Given the description of an element on the screen output the (x, y) to click on. 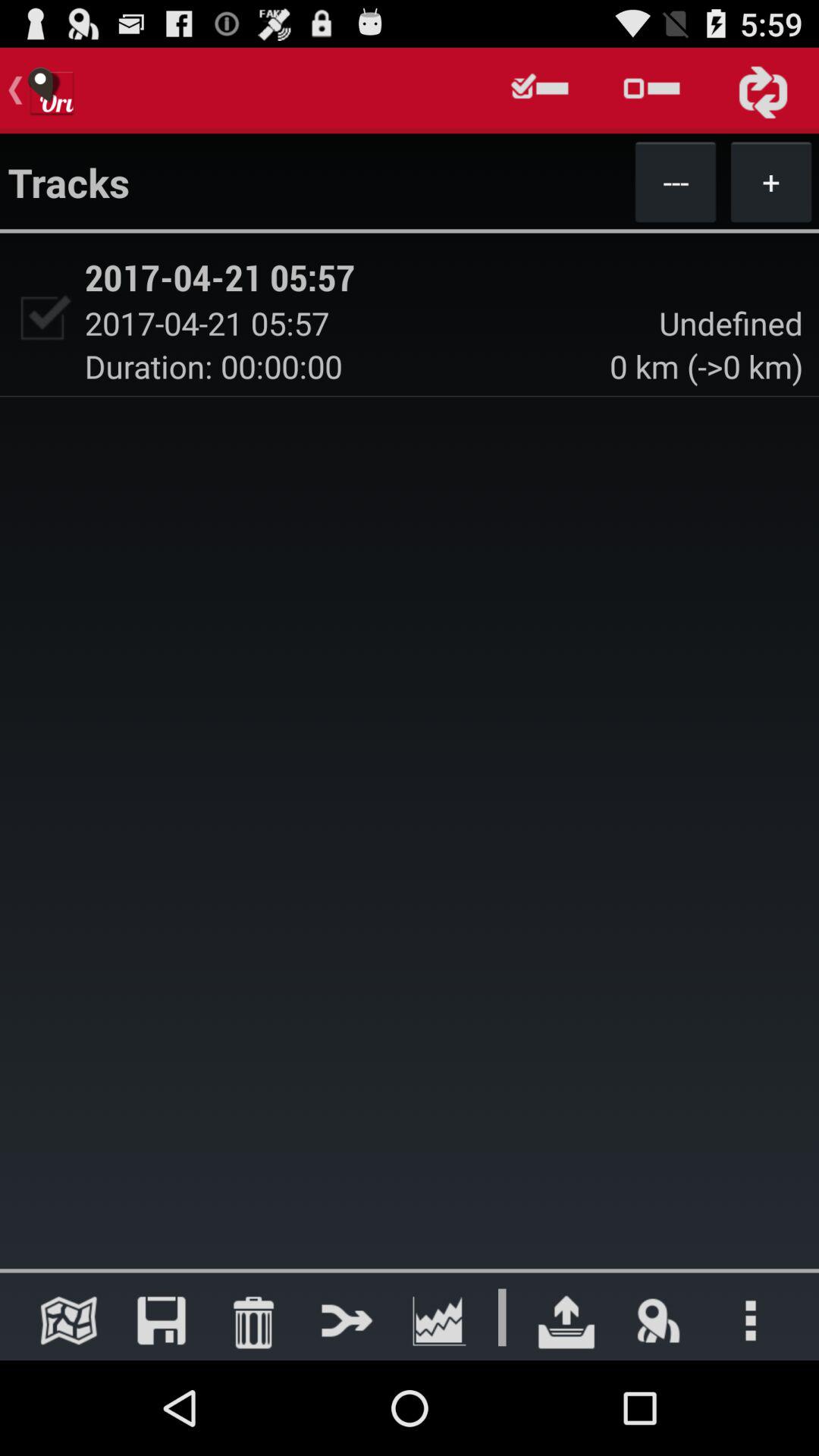
go to delete option (253, 1320)
